Given the description of an element on the screen output the (x, y) to click on. 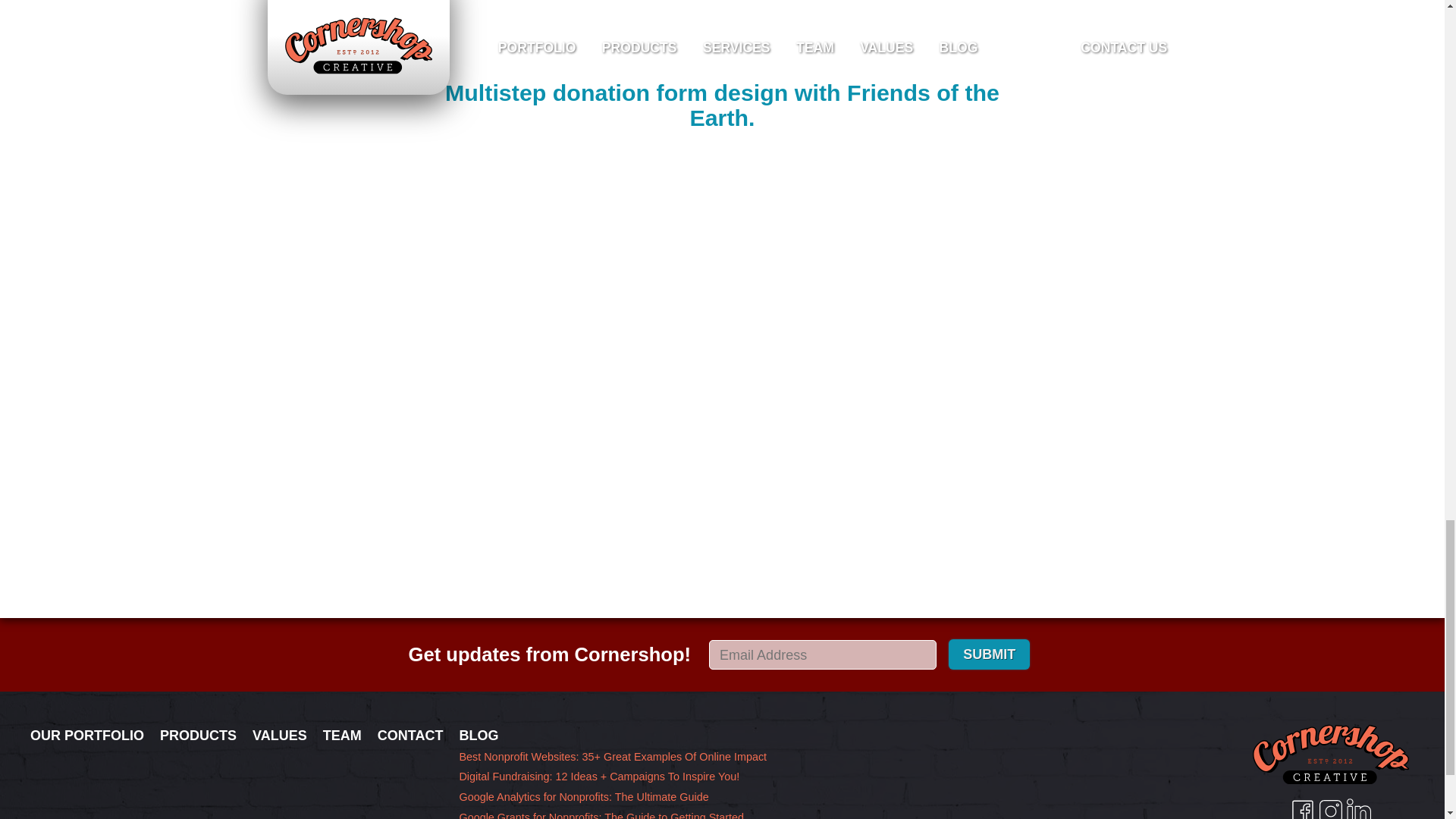
Facebook opens in new tab. (1302, 808)
Submit (989, 654)
Instagram opens in new tab. (1330, 808)
LinkedIn opens in new tab. (1358, 808)
Cornershop Creative (1330, 753)
Multistep donation form design with Friends of the Earth. (721, 104)
